Given the description of an element on the screen output the (x, y) to click on. 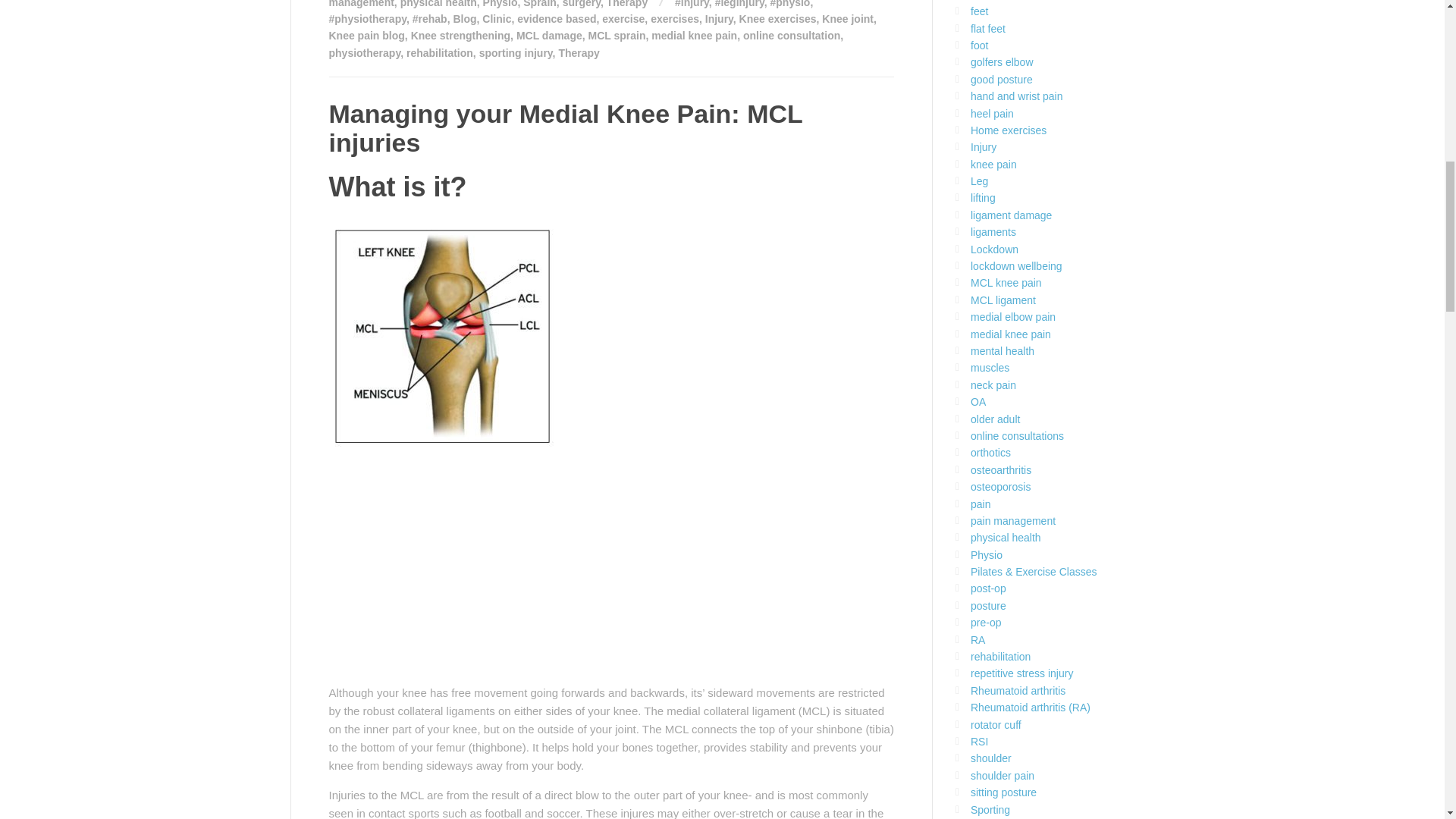
pain management (595, 3)
surgery (580, 4)
physical health (438, 4)
Physio (500, 4)
Sprain (539, 4)
